Given the description of an element on the screen output the (x, y) to click on. 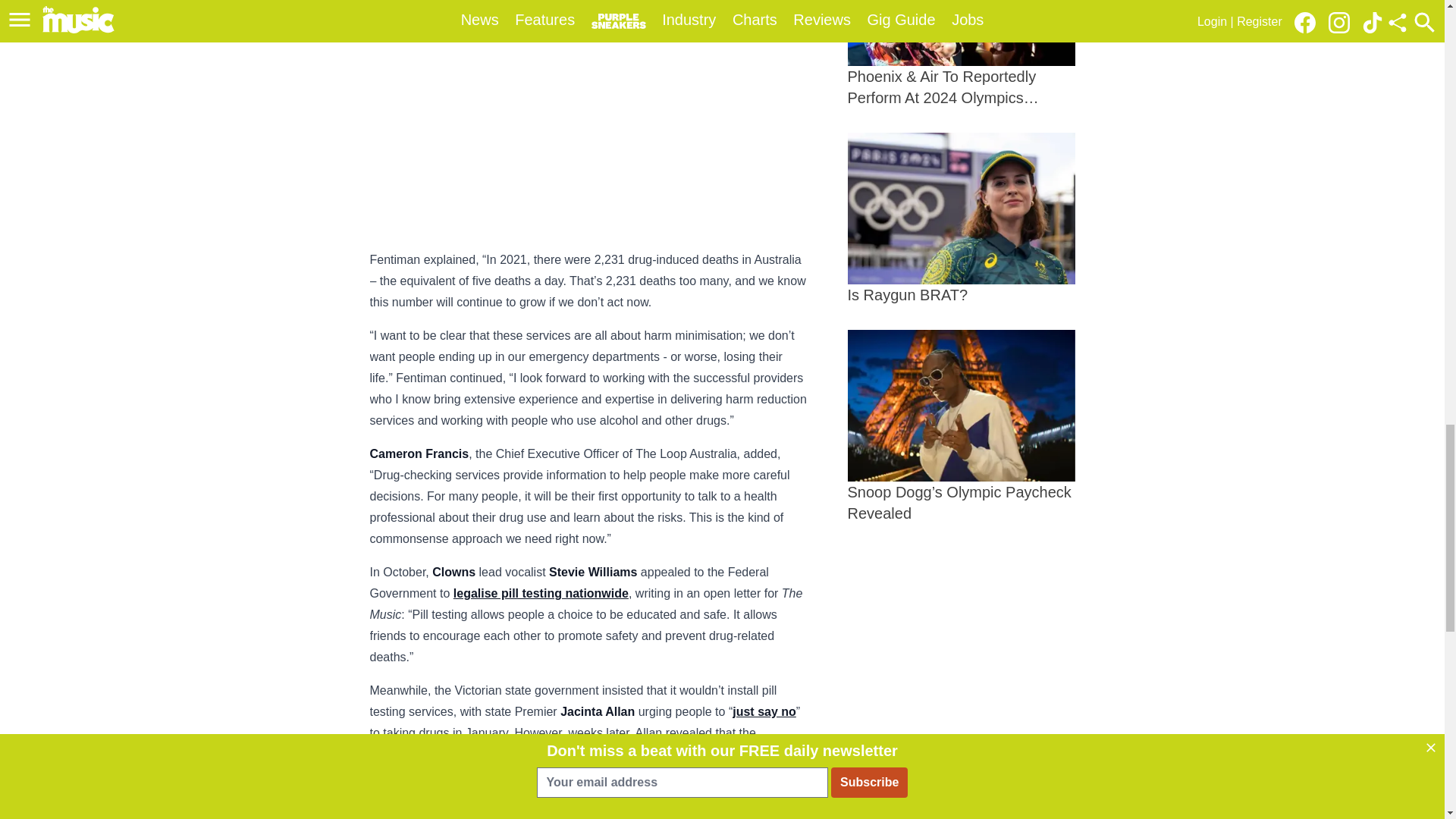
legalise pill testing nationwide (540, 593)
just say no (764, 711)
seeking expert advice (511, 753)
Is Raygun BRAT? (961, 218)
